Given the description of an element on the screen output the (x, y) to click on. 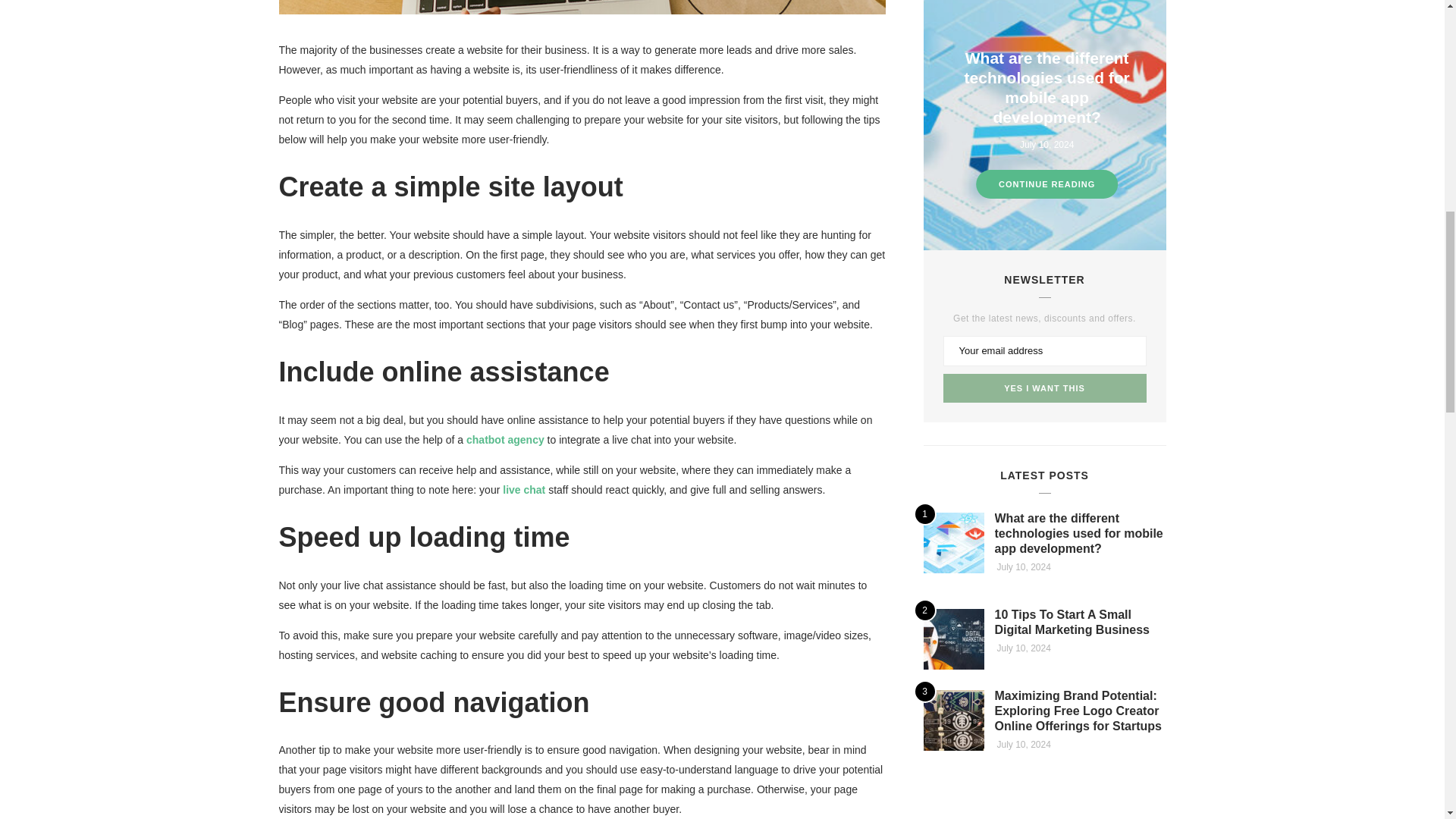
live chat (523, 490)
chatbot agency (504, 439)
Yes I want this (1045, 387)
